Given the description of an element on the screen output the (x, y) to click on. 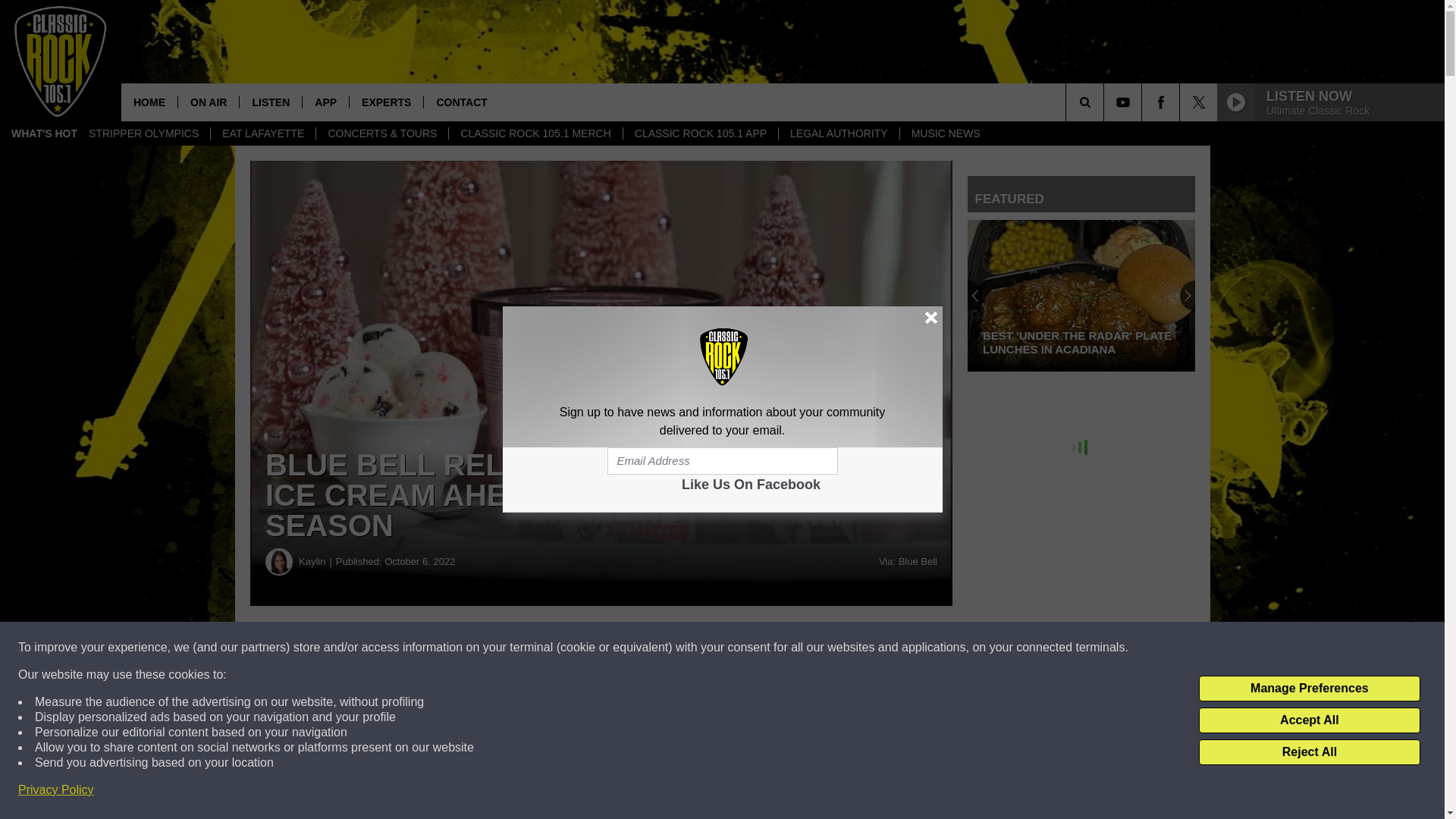
Email Address (722, 461)
ON AIR (207, 102)
STRIPPER OLYMPICS (143, 133)
Reject All (1309, 751)
MUSIC NEWS (945, 133)
HOME (148, 102)
EAT LAFAYETTE (262, 133)
SEARCH (1106, 102)
Accept All (1309, 720)
EXPERTS (386, 102)
LISTEN (269, 102)
CLASSIC ROCK 105.1 APP (700, 133)
Manage Preferences (1309, 688)
Privacy Policy (55, 789)
APP (325, 102)
